Given the description of an element on the screen output the (x, y) to click on. 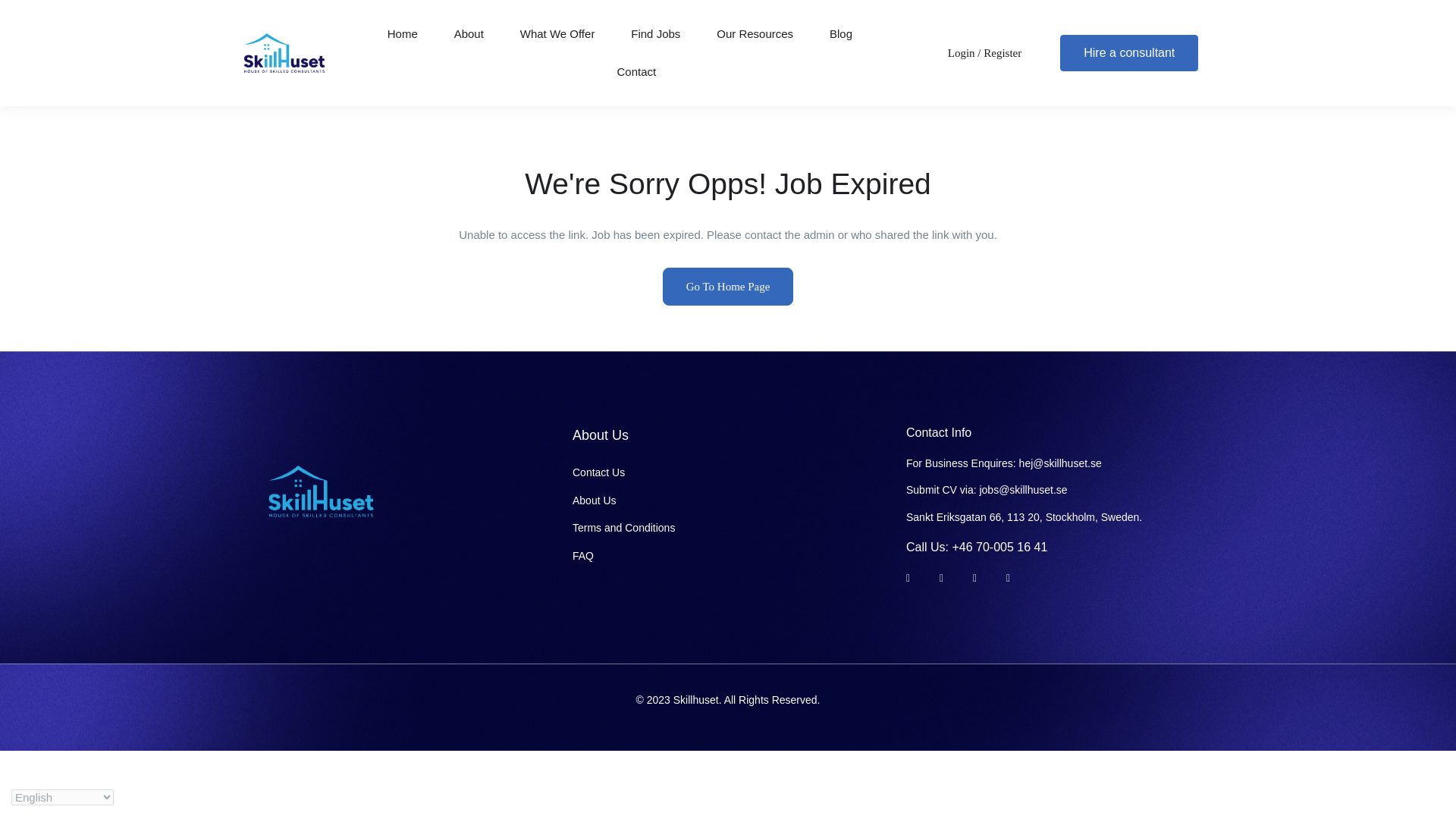
What We Offer (557, 34)
Blog (840, 34)
Our Resources (754, 34)
Contact (636, 71)
Find Jobs (654, 34)
Home (402, 34)
About (468, 34)
